Given the description of an element on the screen output the (x, y) to click on. 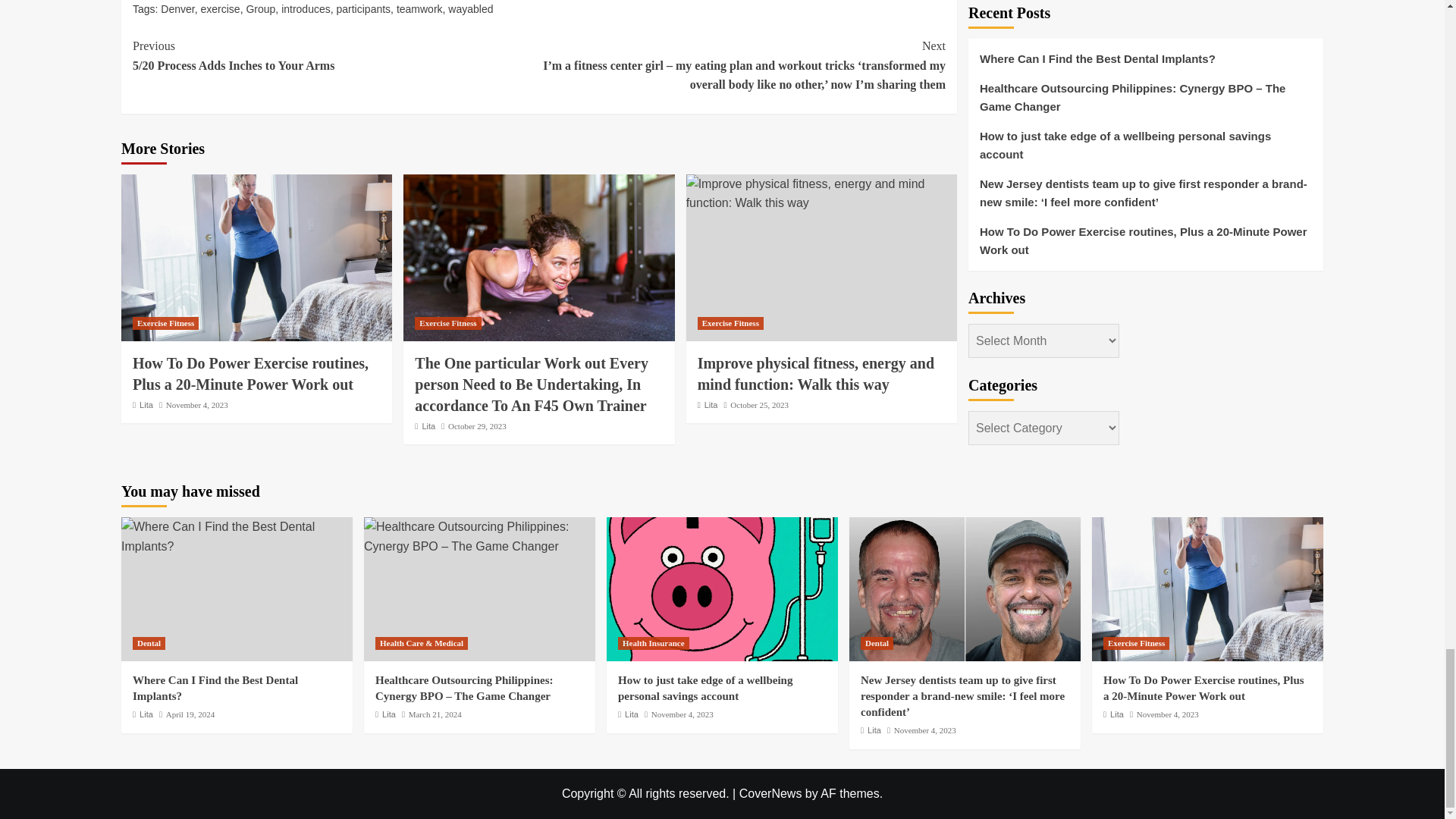
wayabled (470, 9)
introduces (305, 9)
participants (363, 9)
Lita (145, 404)
November 4, 2023 (196, 404)
teamwork (419, 9)
Exercise Fitness (447, 323)
Where Can I Find the Best Dental Implants? (236, 536)
Group (260, 9)
Exercise Fitness (165, 323)
